Given the description of an element on the screen output the (x, y) to click on. 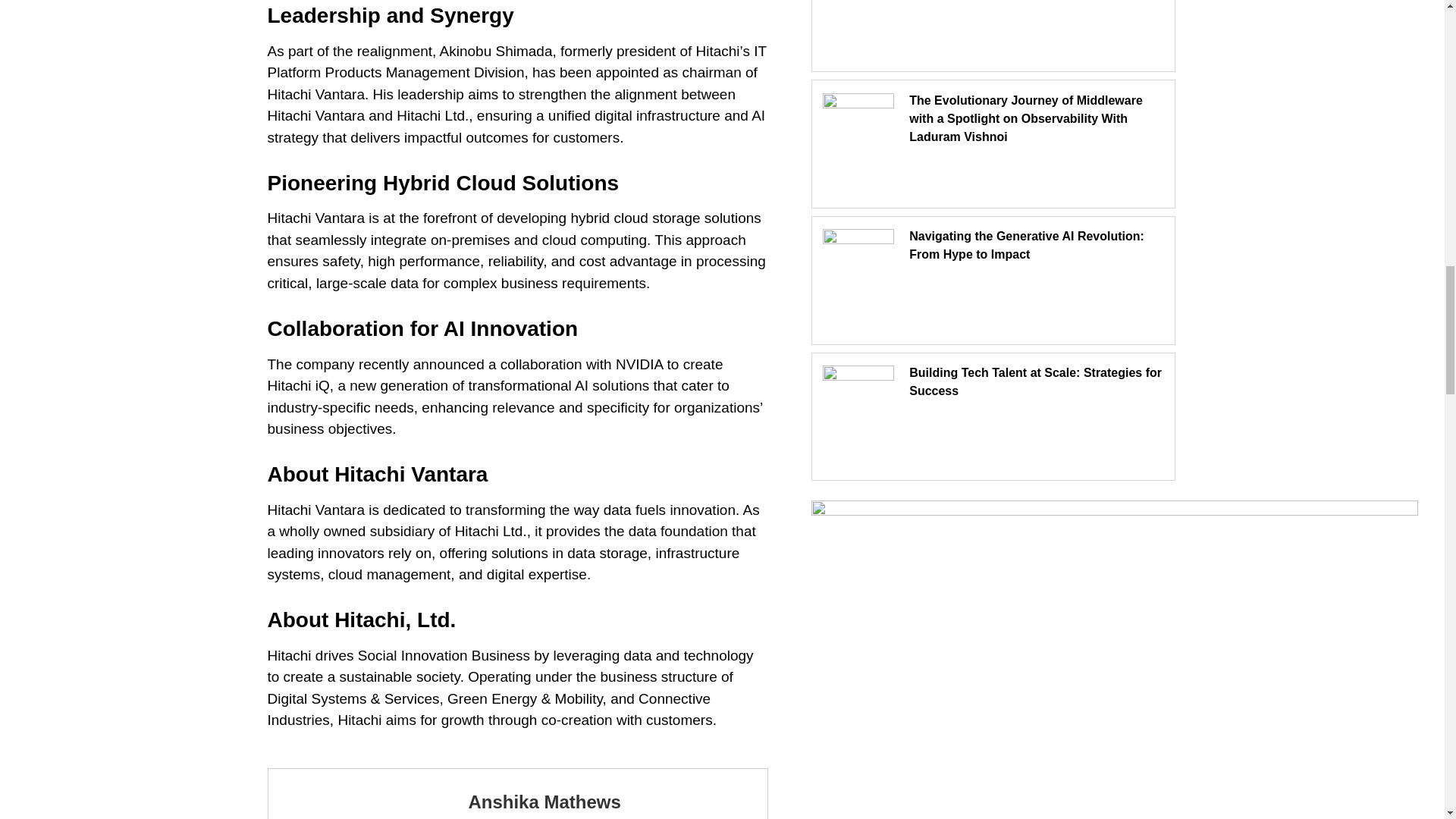
Building Tech Talent at Scale: Strategies for Success (1034, 381)
Navigating the Generative AI Revolution: From Hype to Impact (1026, 245)
